Given the description of an element on the screen output the (x, y) to click on. 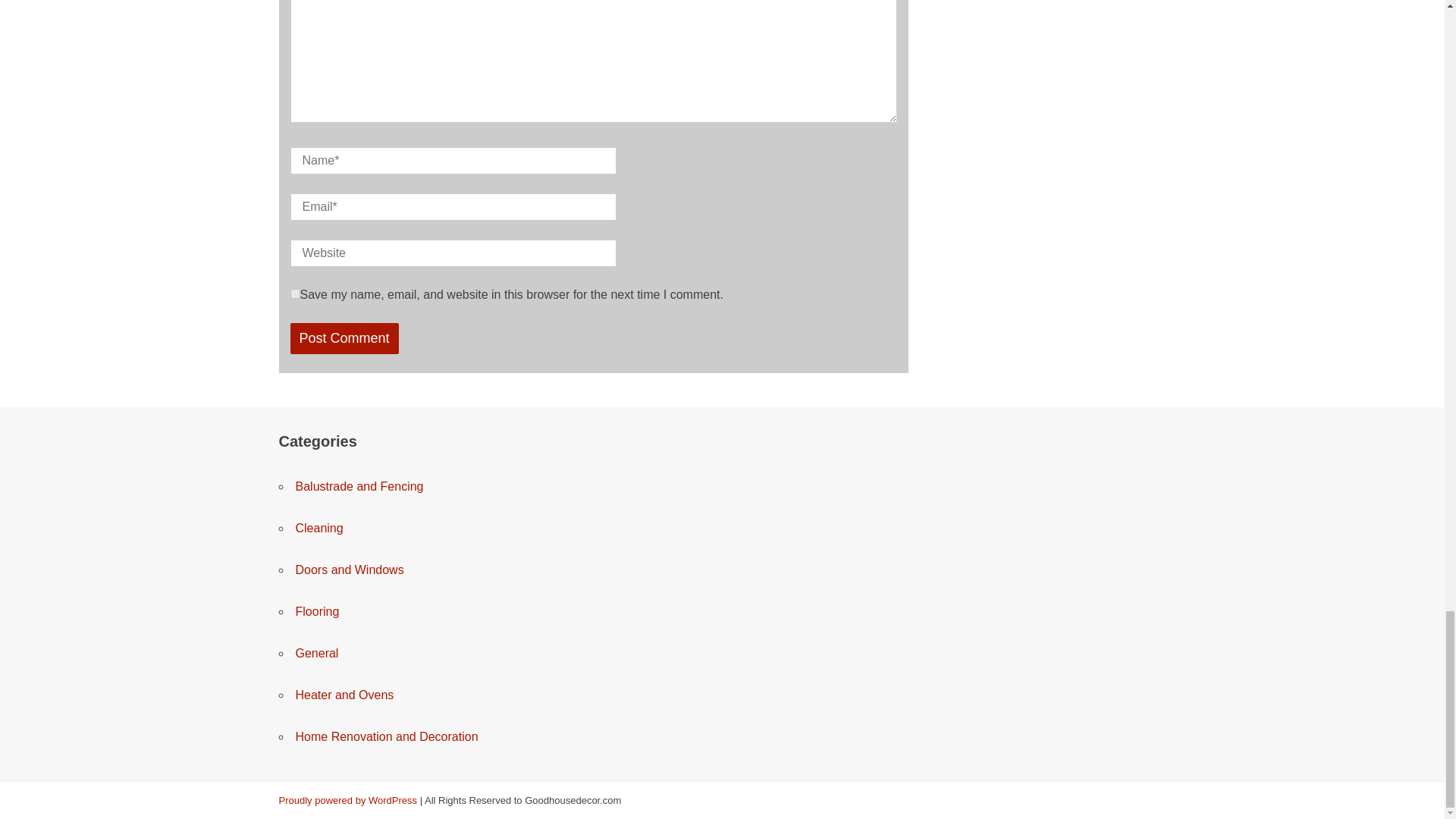
yes (294, 293)
Post Comment (343, 337)
Post Comment (343, 337)
